Given the description of an element on the screen output the (x, y) to click on. 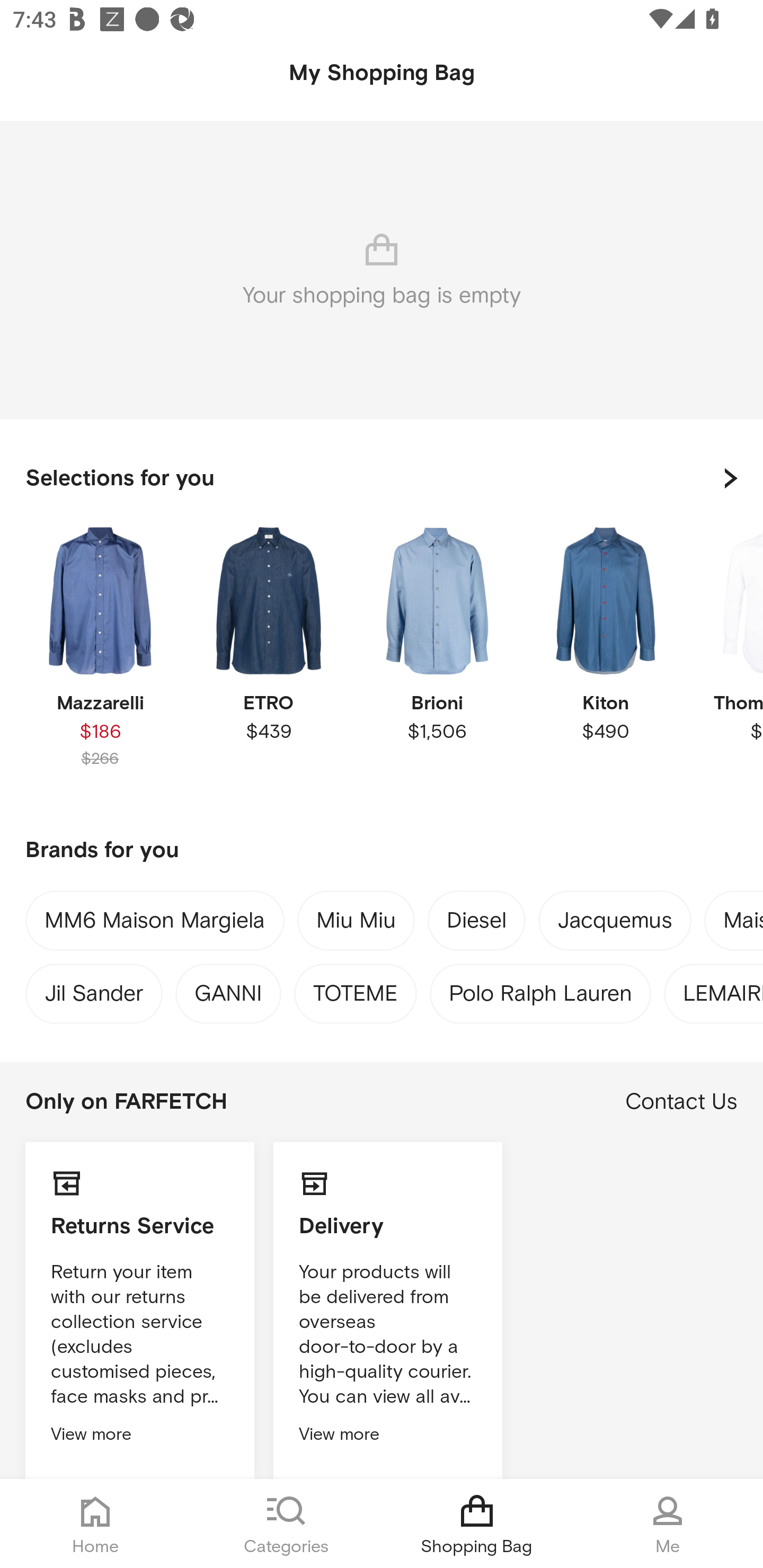
Selections for you (381, 477)
Mazzarelli $186 $266 (100, 660)
ETRO $439 (268, 660)
Brioni $1,506 (436, 660)
Kiton $490 (605, 660)
Brands for you (381, 850)
MM6 Maison Margiela (154, 924)
Miu Miu (355, 922)
Diesel (476, 924)
Jacquemus (614, 924)
Jil Sander (93, 988)
GANNI (227, 988)
TOTEME (355, 988)
Polo Ralph Lauren (539, 988)
LEMAIRE (722, 988)
Contact Us (680, 1101)
Home (95, 1523)
Categories (285, 1523)
Me (667, 1523)
